Given the description of an element on the screen output the (x, y) to click on. 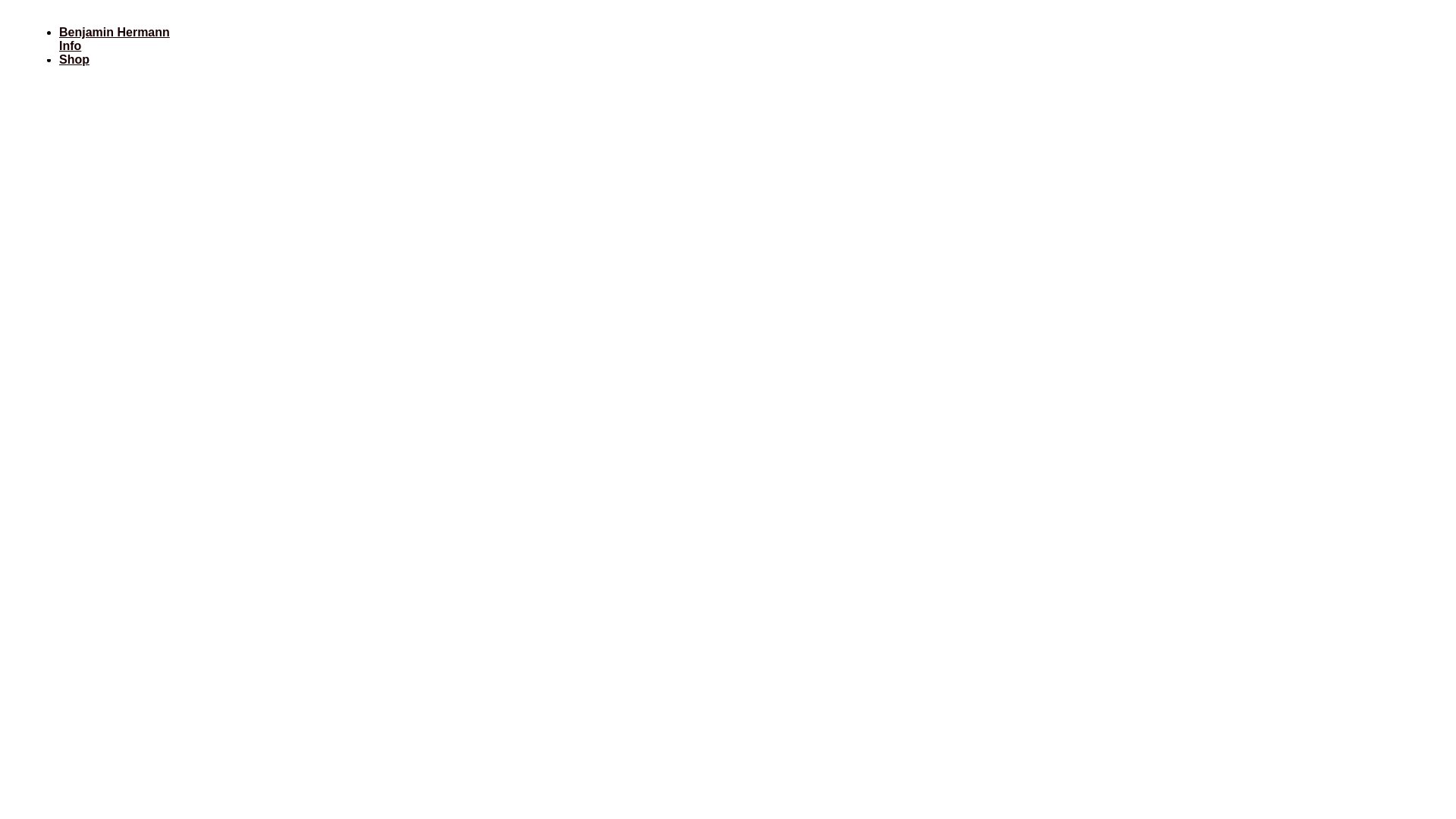
Shop Element type: text (74, 59)
Info Element type: text (70, 45)
Benjamin Hermann Element type: text (114, 31)
